Given the description of an element on the screen output the (x, y) to click on. 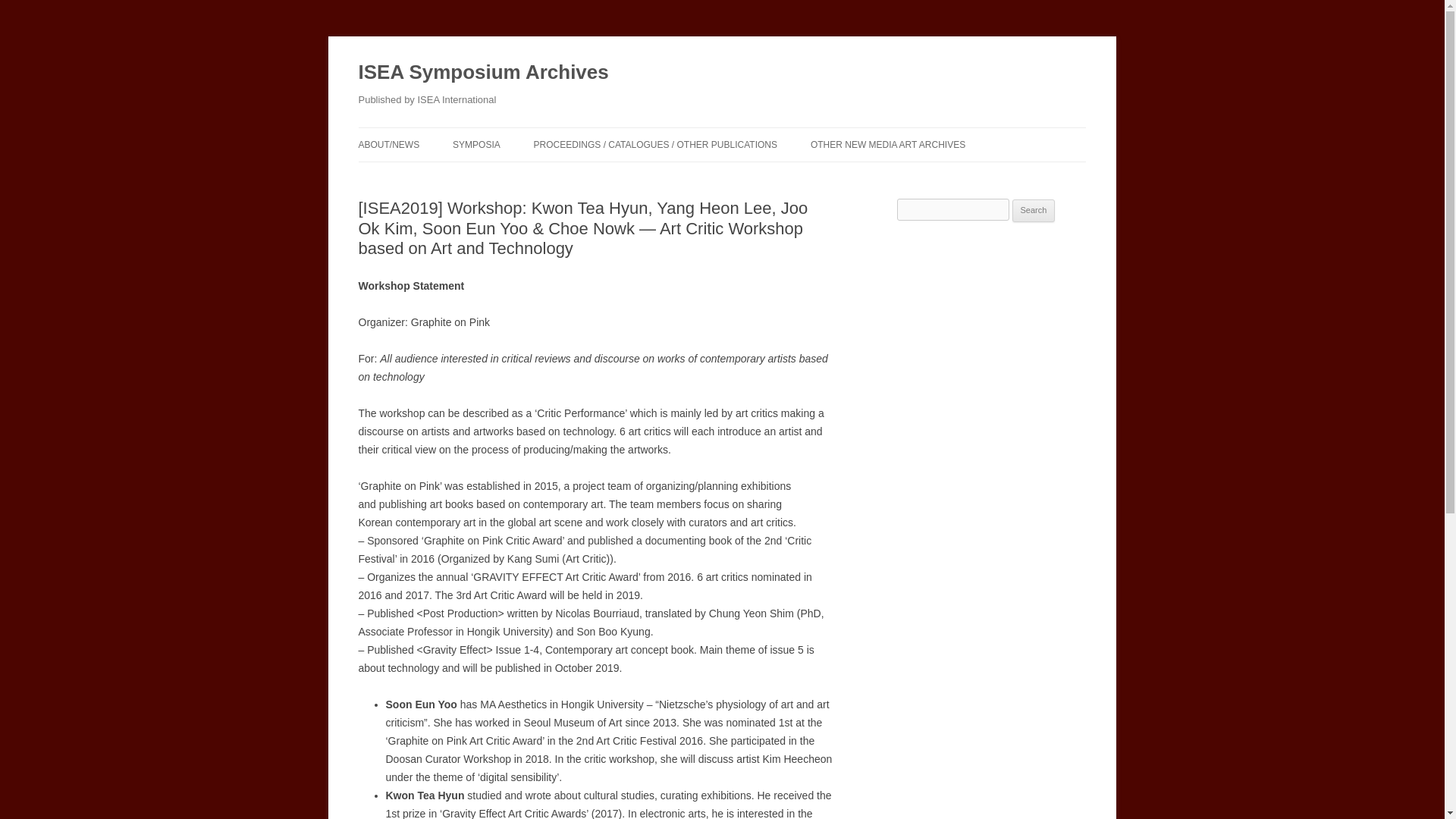
ISEA Symposium Archives (483, 72)
Search (1033, 210)
Search (1033, 210)
OTHER NEW MEDIA ART ARCHIVES (887, 144)
SYMPOSIA (476, 144)
